Given the description of an element on the screen output the (x, y) to click on. 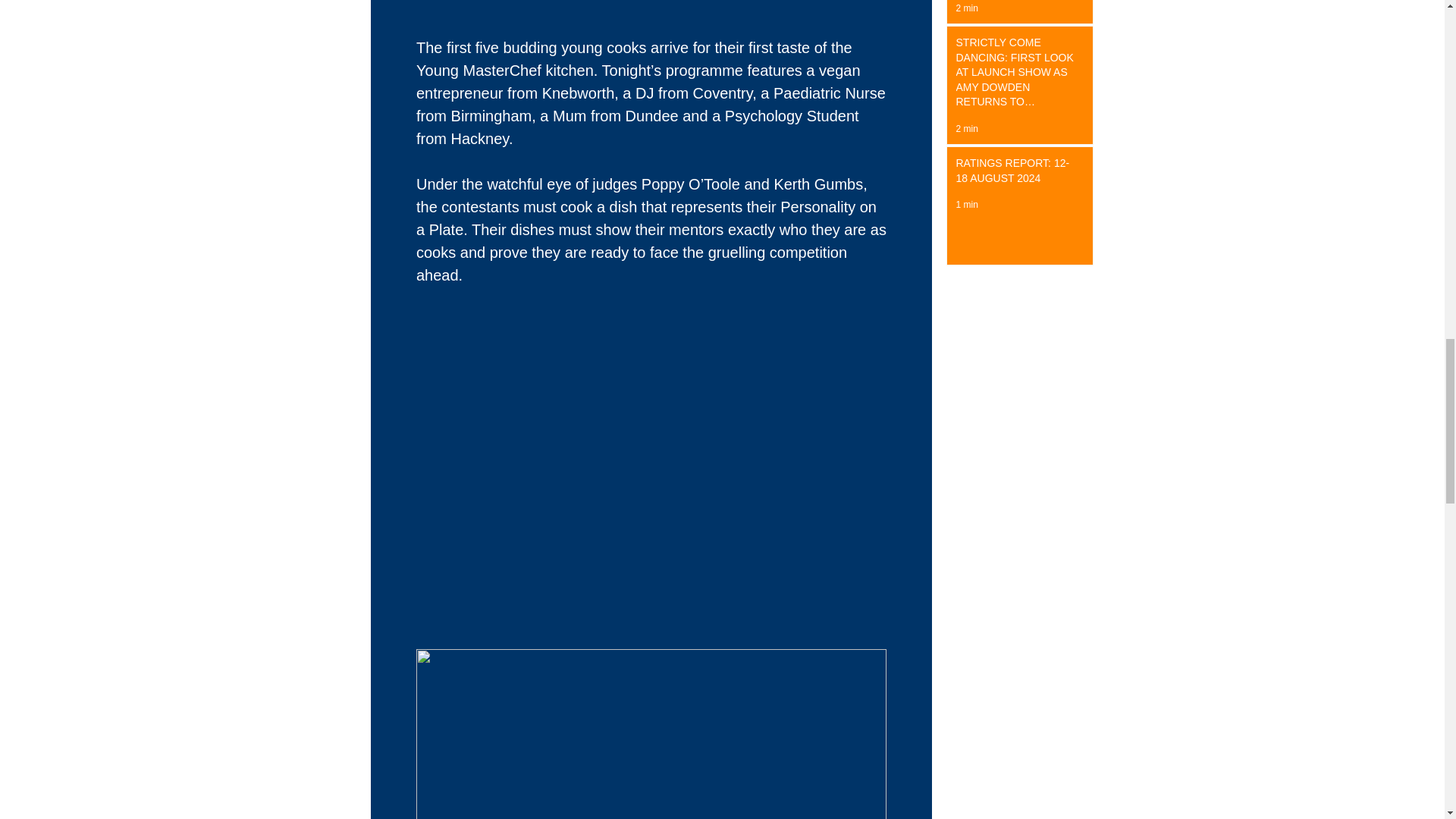
2 min (965, 128)
1 min (965, 204)
RATINGS REPORT: 12-18 AUGUST 2024 (1014, 173)
2 min (965, 8)
